Given the description of an element on the screen output the (x, y) to click on. 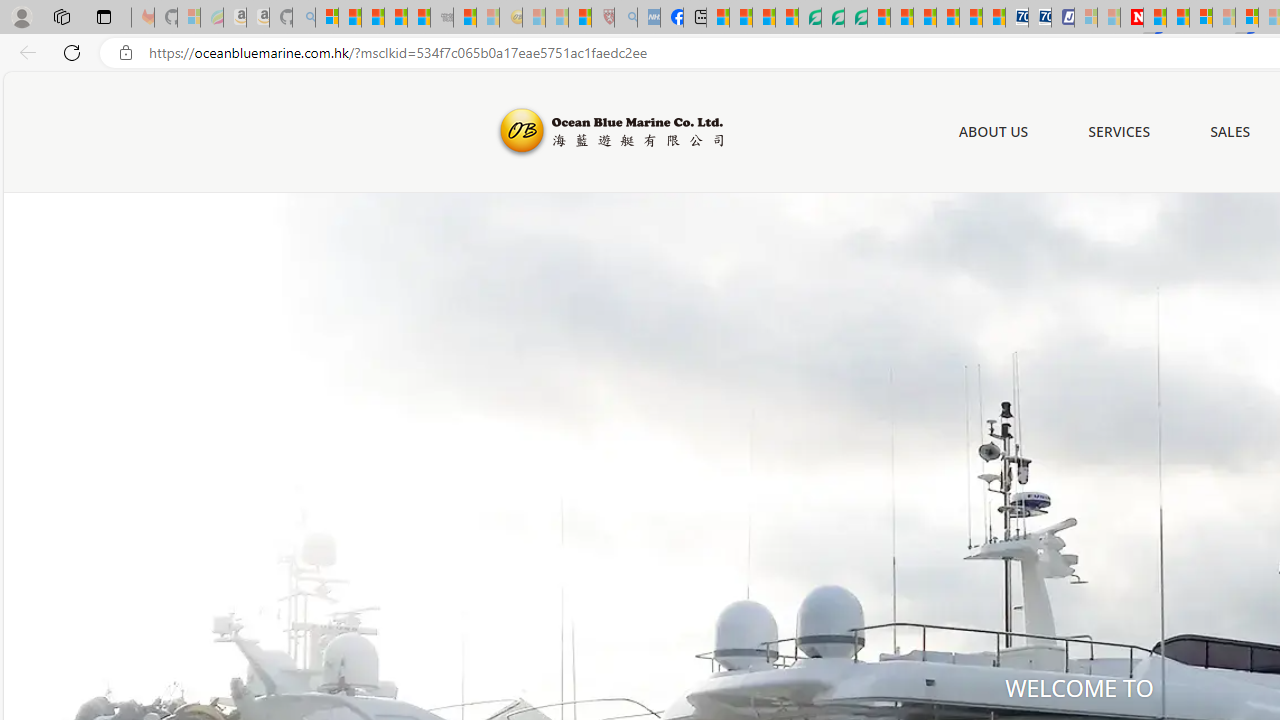
Ocean Blue Marine (608, 132)
ABOUT US (993, 131)
